Given the description of an element on the screen output the (x, y) to click on. 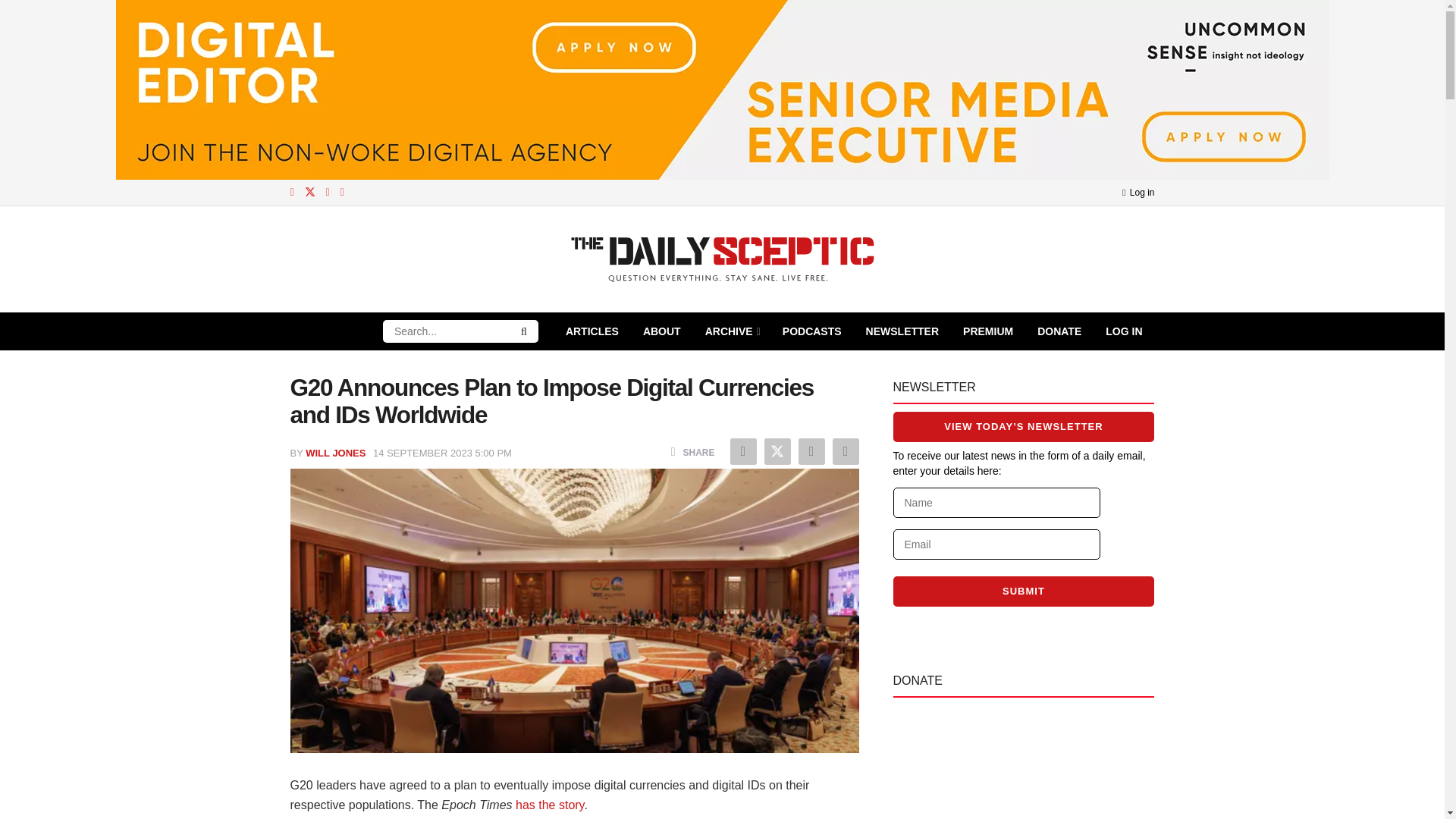
Log in (1138, 192)
14 SEPTEMBER 2023 5:00 PM (442, 452)
ABOUT (661, 331)
has the story (549, 804)
PODCASTS (811, 331)
NEWSLETTER (901, 331)
DONATE (1059, 331)
ARTICLES (591, 331)
ARCHIVE (731, 331)
WILL JONES (335, 452)
